Given the description of an element on the screen output the (x, y) to click on. 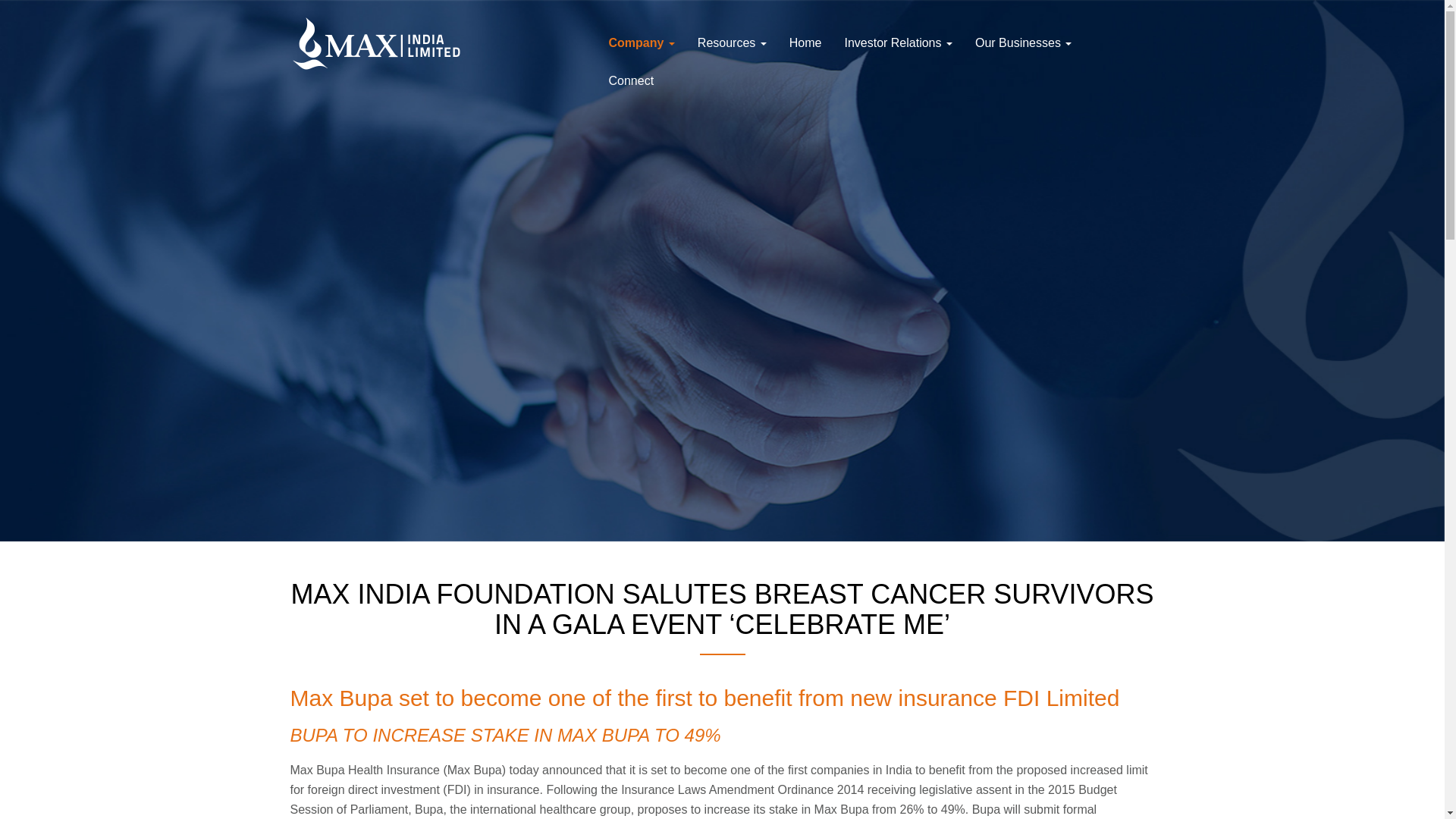
Investor Relations (897, 43)
Home (804, 43)
Resources (731, 43)
Connect (630, 80)
Company (640, 43)
Our Businesses (1023, 43)
